Given the description of an element on the screen output the (x, y) to click on. 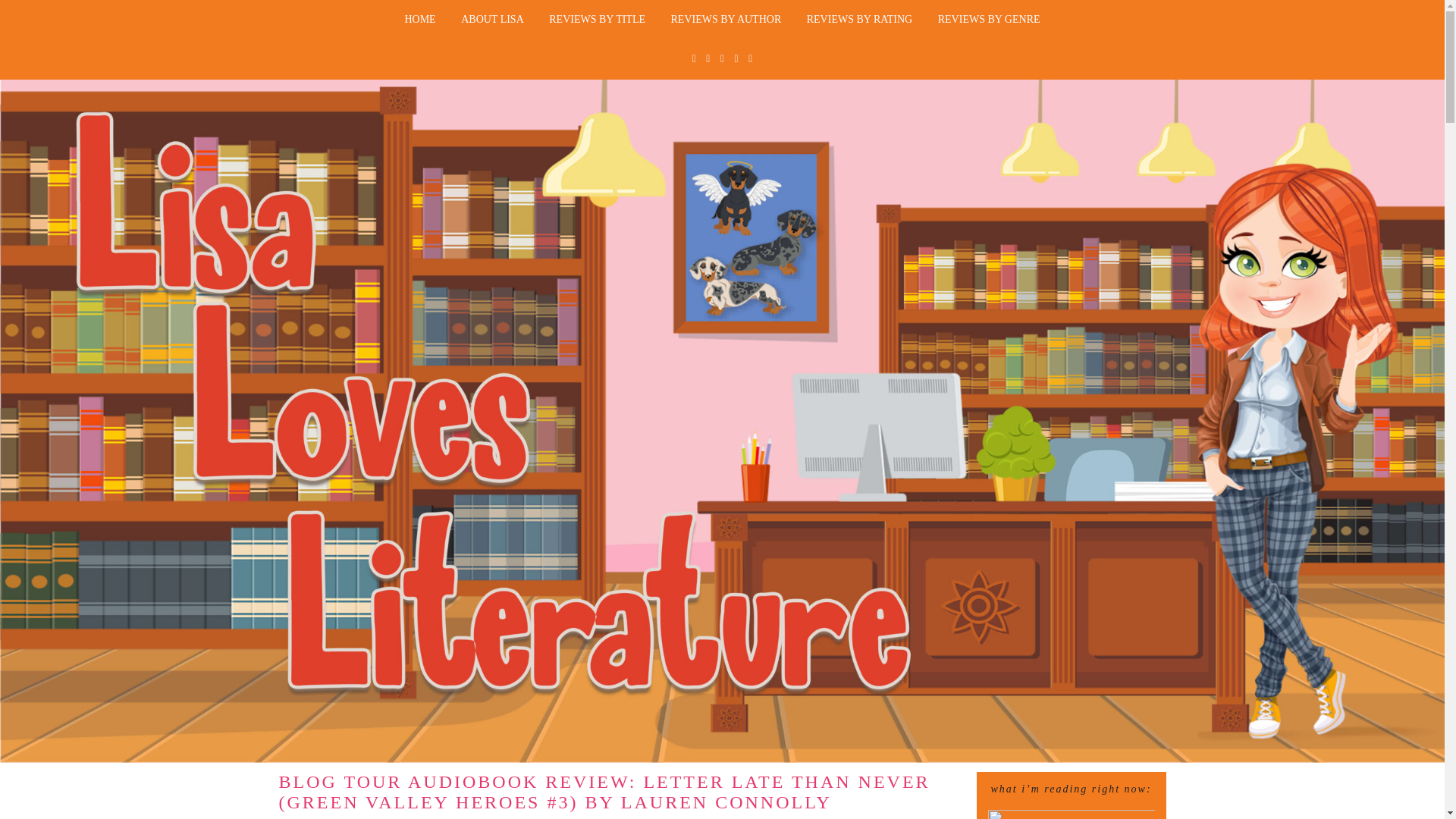
REVIEWS BY RATING (858, 19)
REVIEWS BY GENRE (988, 19)
REVIEWS BY TITLE (596, 19)
LISA MANDINA (472, 817)
View all posts in Blog Tour (572, 817)
5 COMMENTS (713, 817)
View all posts in Review (638, 817)
BLOG TOUR (572, 817)
ABOUT LISA (492, 19)
REVIEWS BY AUTHOR (726, 19)
